Given the description of an element on the screen output the (x, y) to click on. 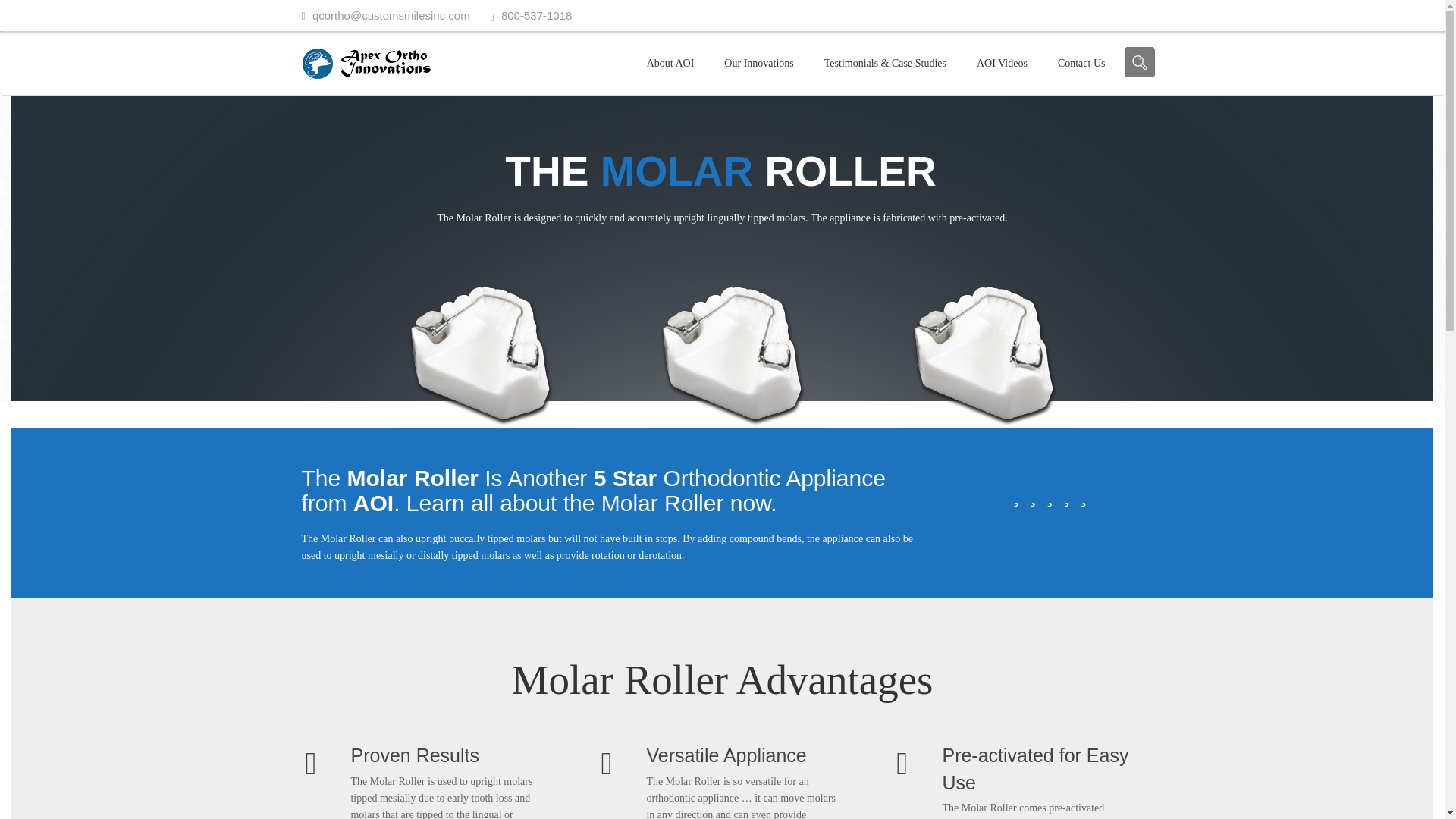
Our Innovations (758, 63)
Proven Results (446, 755)
Search (1139, 61)
Contact Us (1081, 63)
About AOI (670, 63)
800-537-1018 (536, 15)
Search (1139, 61)
AOI Videos (1001, 63)
Pre-activated for Easy Use (1038, 769)
Versatile Appliance (743, 755)
